Given the description of an element on the screen output the (x, y) to click on. 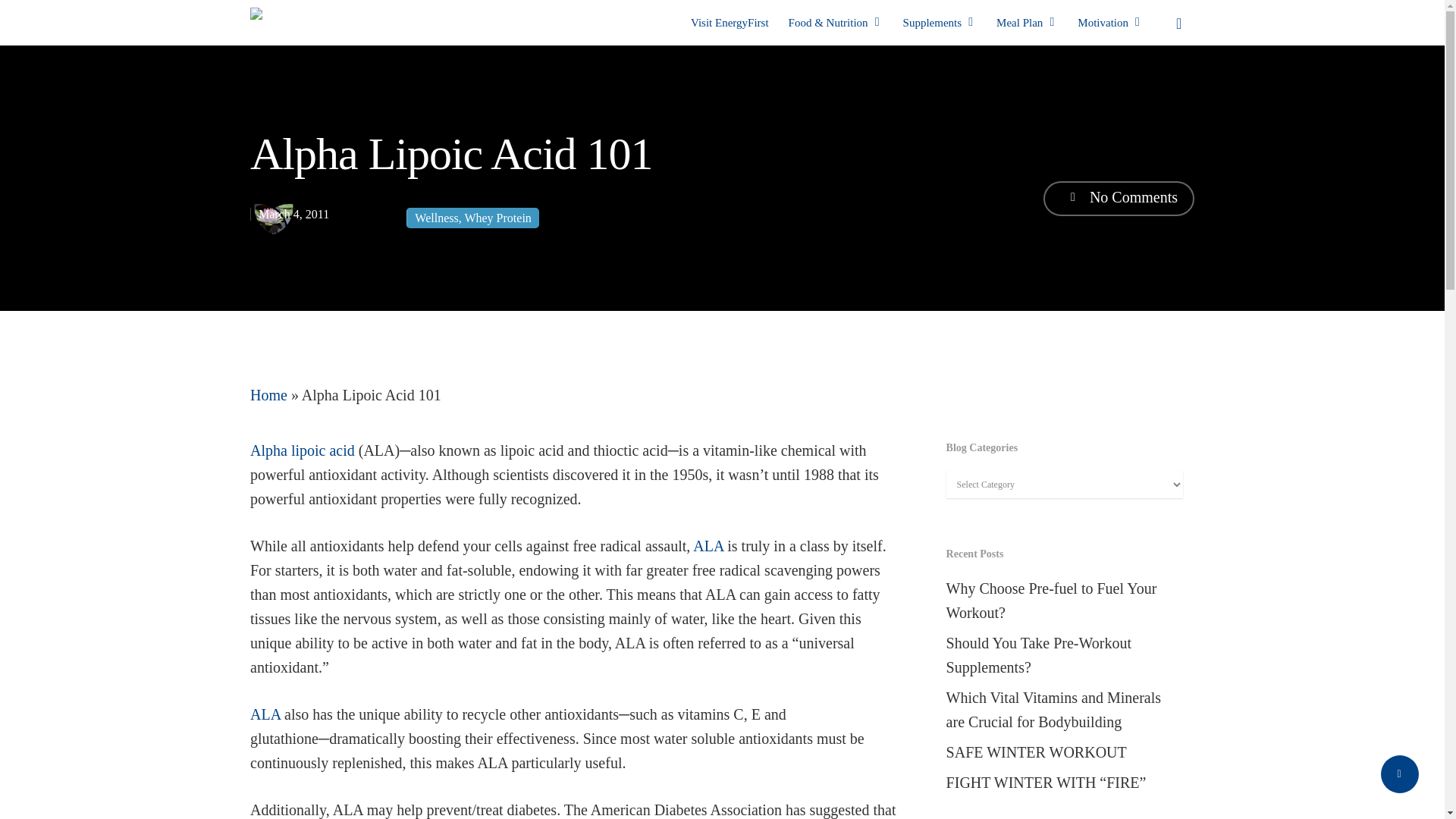
Visit EnergyFirst (729, 22)
Motivation (1110, 22)
Supplements (940, 22)
Meal Plan (1027, 22)
